Given the description of an element on the screen output the (x, y) to click on. 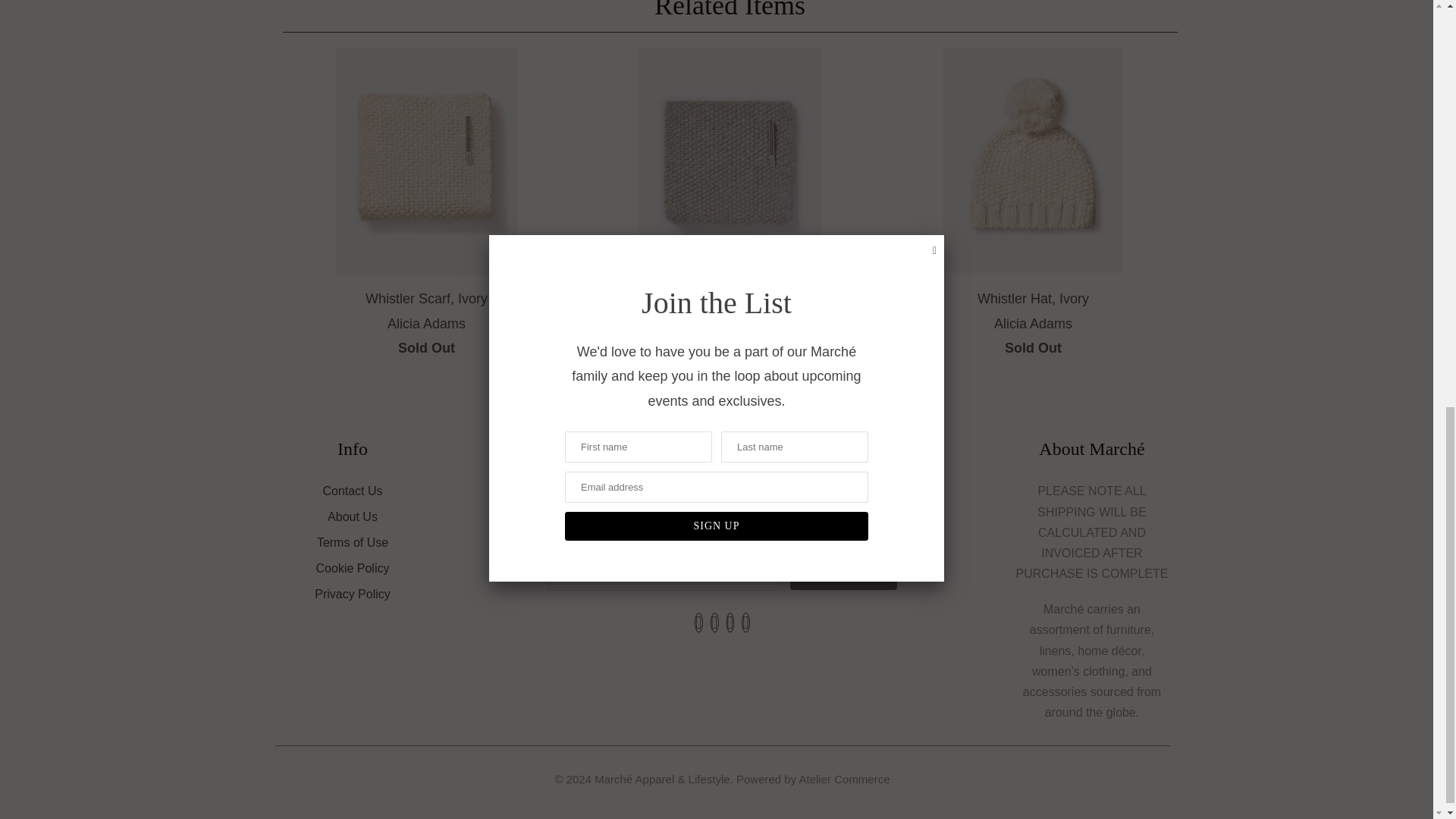
Sign Up (843, 574)
